Given the description of an element on the screen output the (x, y) to click on. 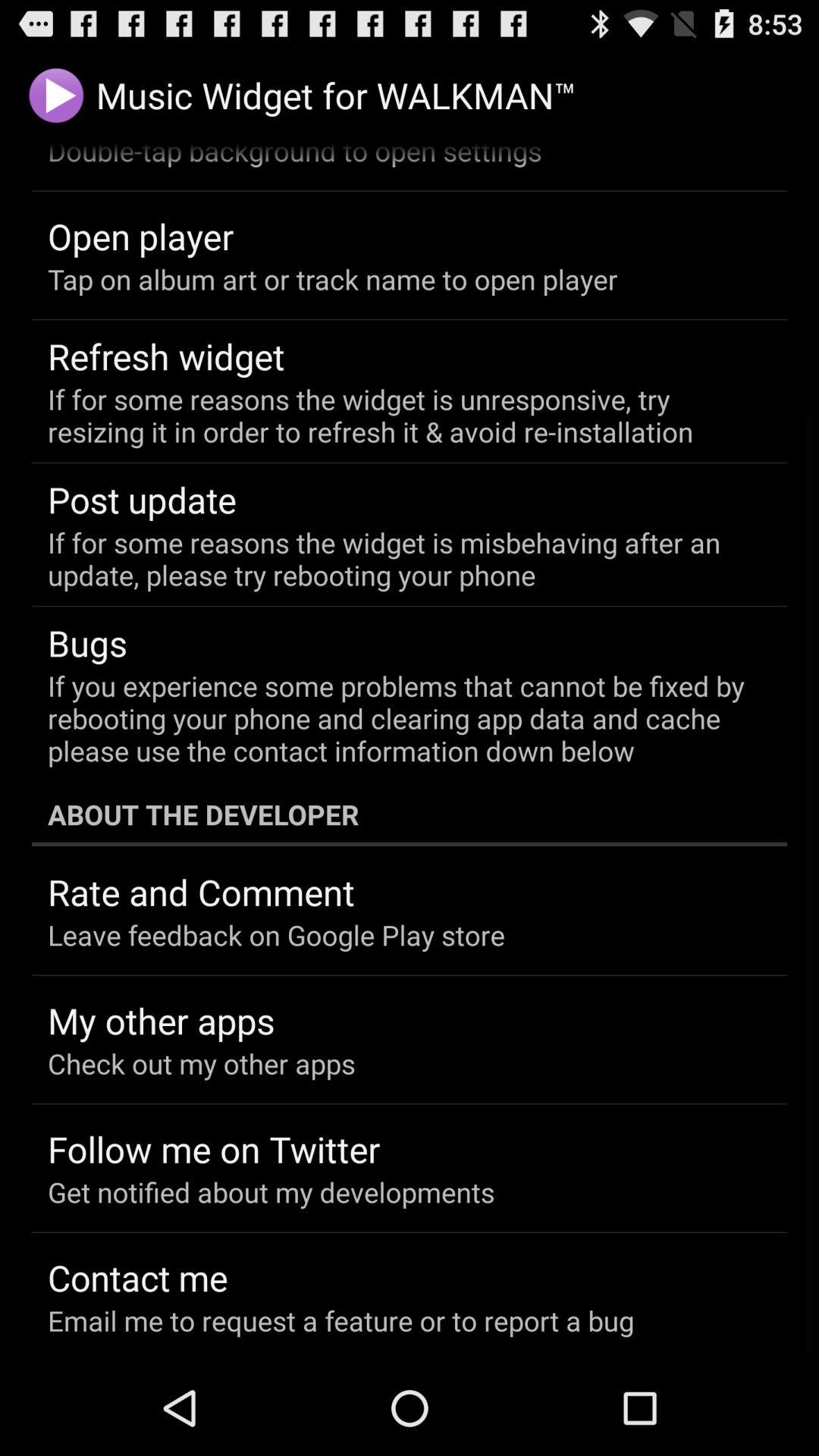
choose about the developer icon (409, 814)
